Given the description of an element on the screen output the (x, y) to click on. 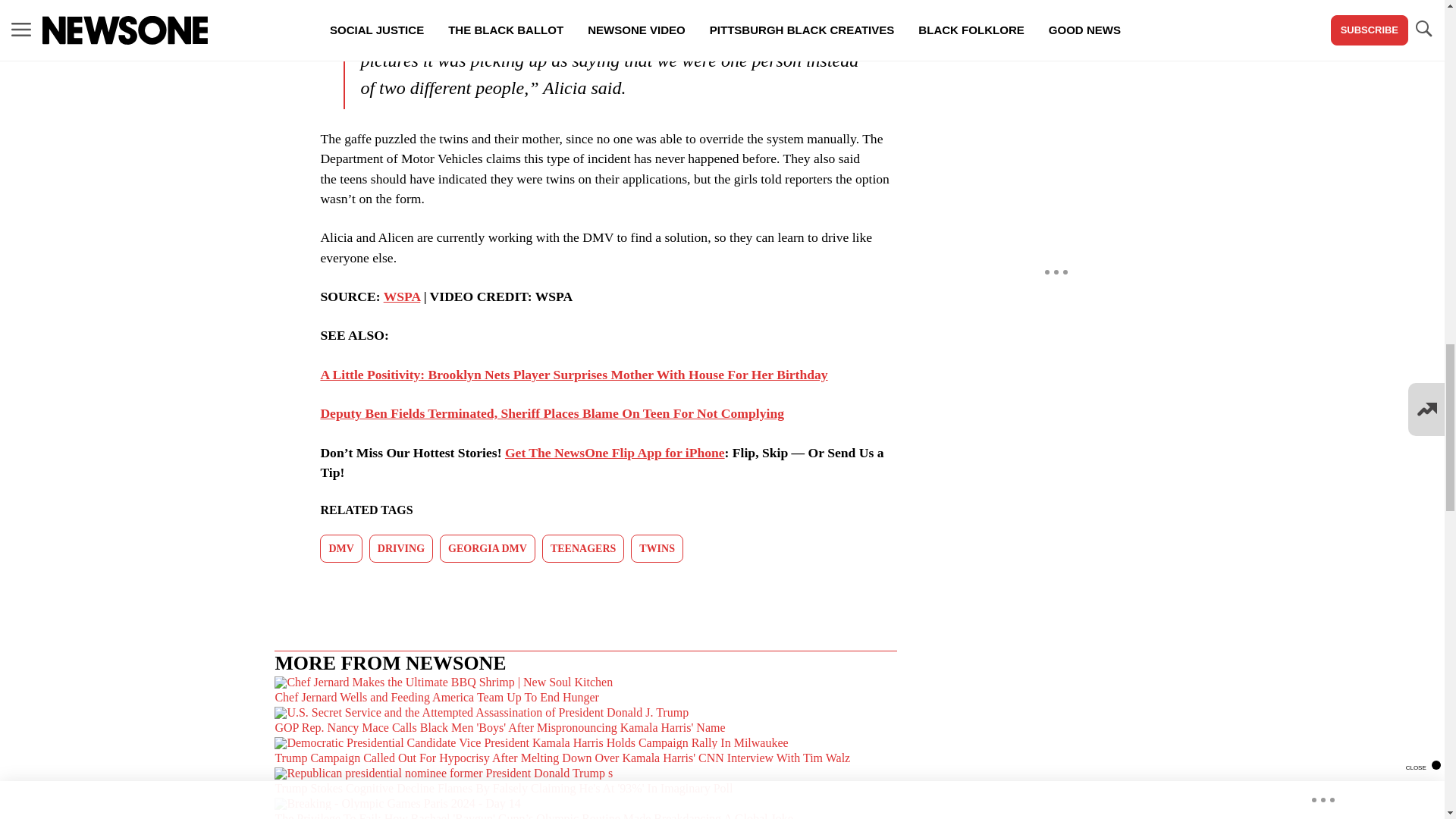
Chef Jernard Wells and Feeding America Team Up To End Hunger (585, 691)
WSPA (402, 296)
DMV (340, 548)
TWINS (656, 548)
DRIVING (400, 548)
GEORGIA DMV (487, 548)
Get The NewsOne Flip App for iPhone (615, 451)
